Given the description of an element on the screen output the (x, y) to click on. 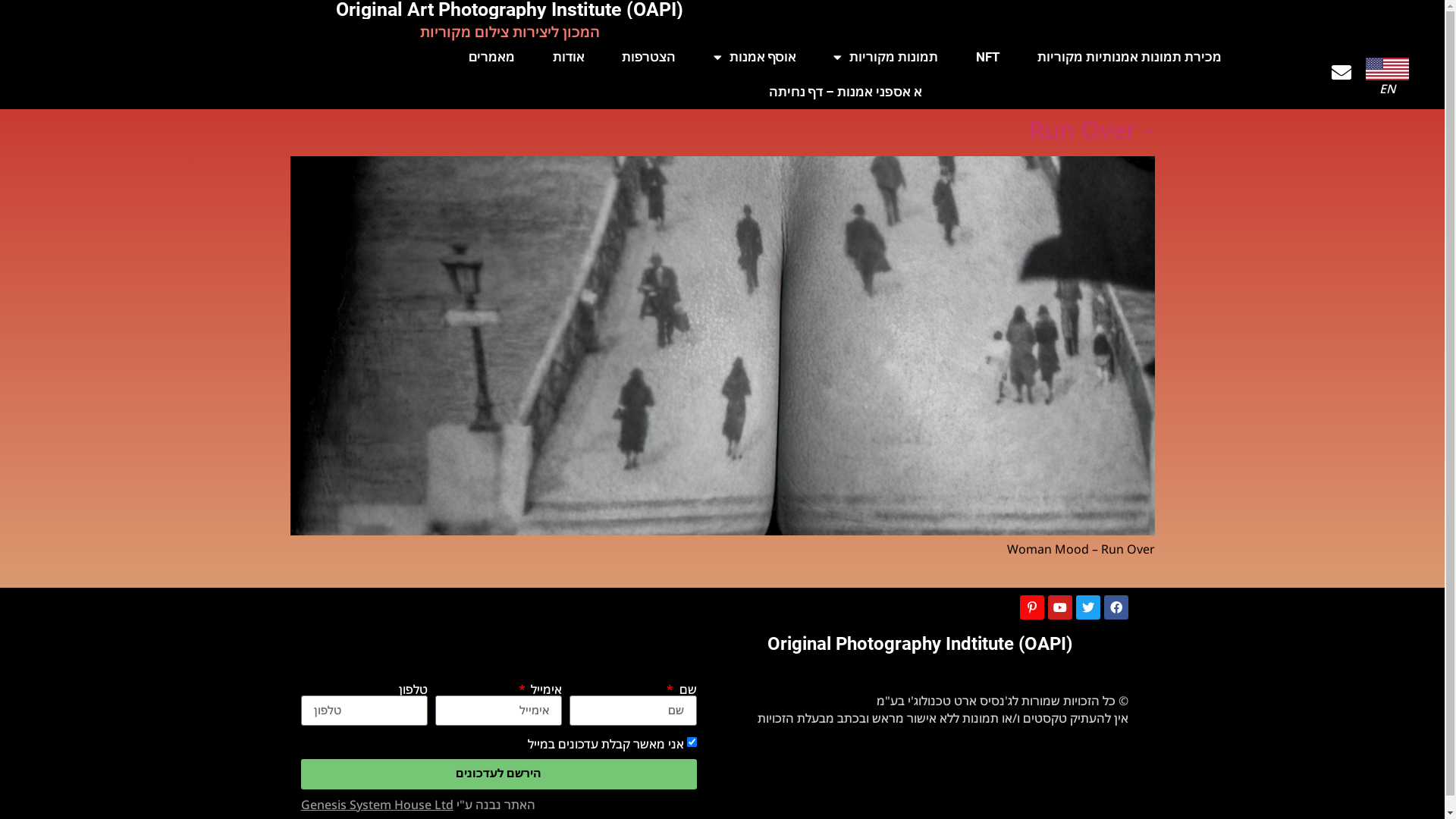
Genesis System House Ltd Element type: text (377, 804)
NFT Element type: text (987, 56)
